Given the description of an element on the screen output the (x, y) to click on. 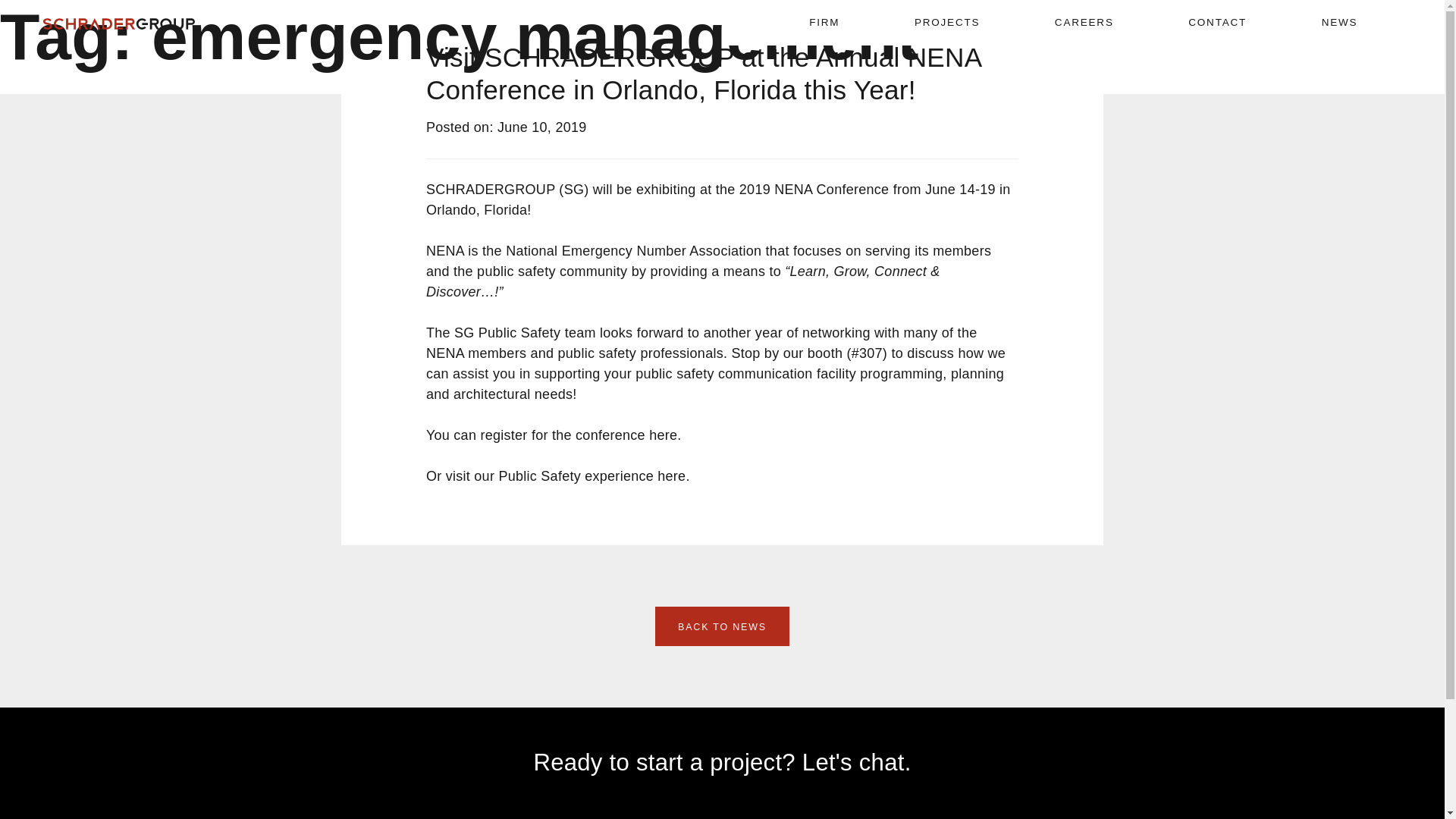
NEWS (1340, 22)
PROJECTS (946, 22)
FIRM (824, 22)
Let's chat (853, 762)
CAREERS (1083, 22)
CONTACT (1217, 22)
here (663, 435)
BACK TO NEWS (722, 626)
here (671, 476)
